Given the description of an element on the screen output the (x, y) to click on. 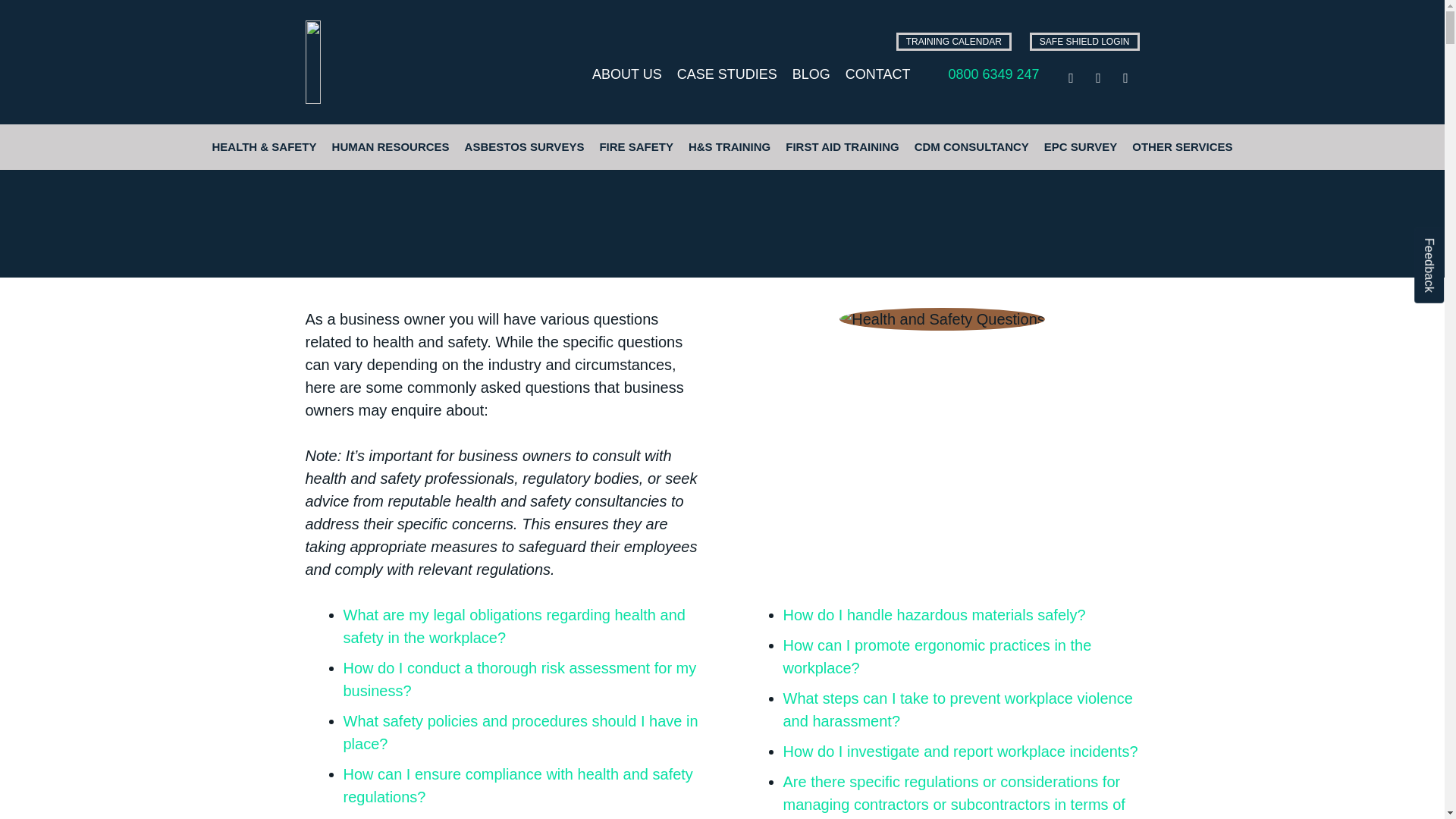
ASBESTOS SURVEYS (524, 146)
CONTACT (878, 74)
SAFE SHIELD LOGIN (1084, 41)
ABOUT US (627, 74)
TRAINING CALENDAR (953, 41)
CASE STUDIES (726, 74)
Facebook (1071, 77)
LinkedIn (1126, 77)
Twitter (1098, 77)
0800 6349 247 (993, 73)
